Given the description of an element on the screen output the (x, y) to click on. 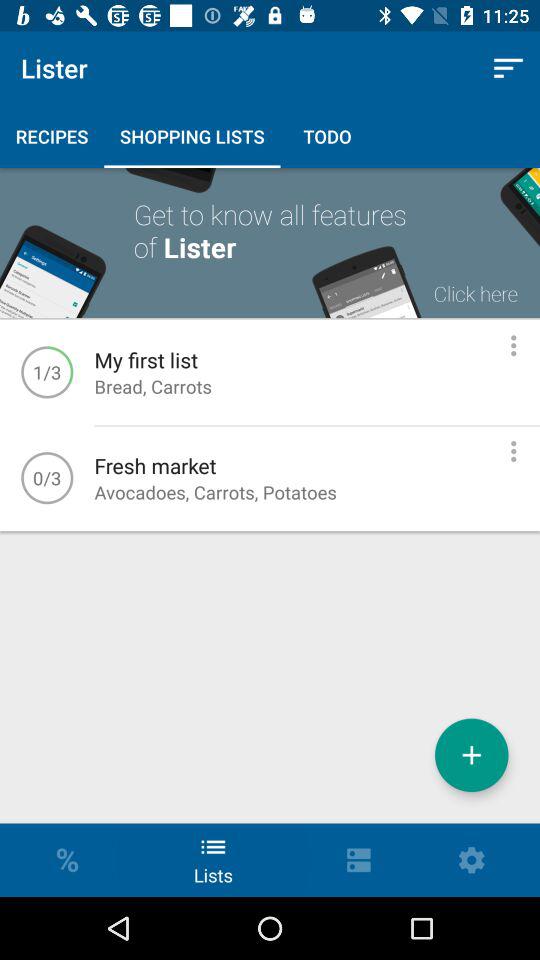
turn off icon at the top right corner (508, 67)
